Given the description of an element on the screen output the (x, y) to click on. 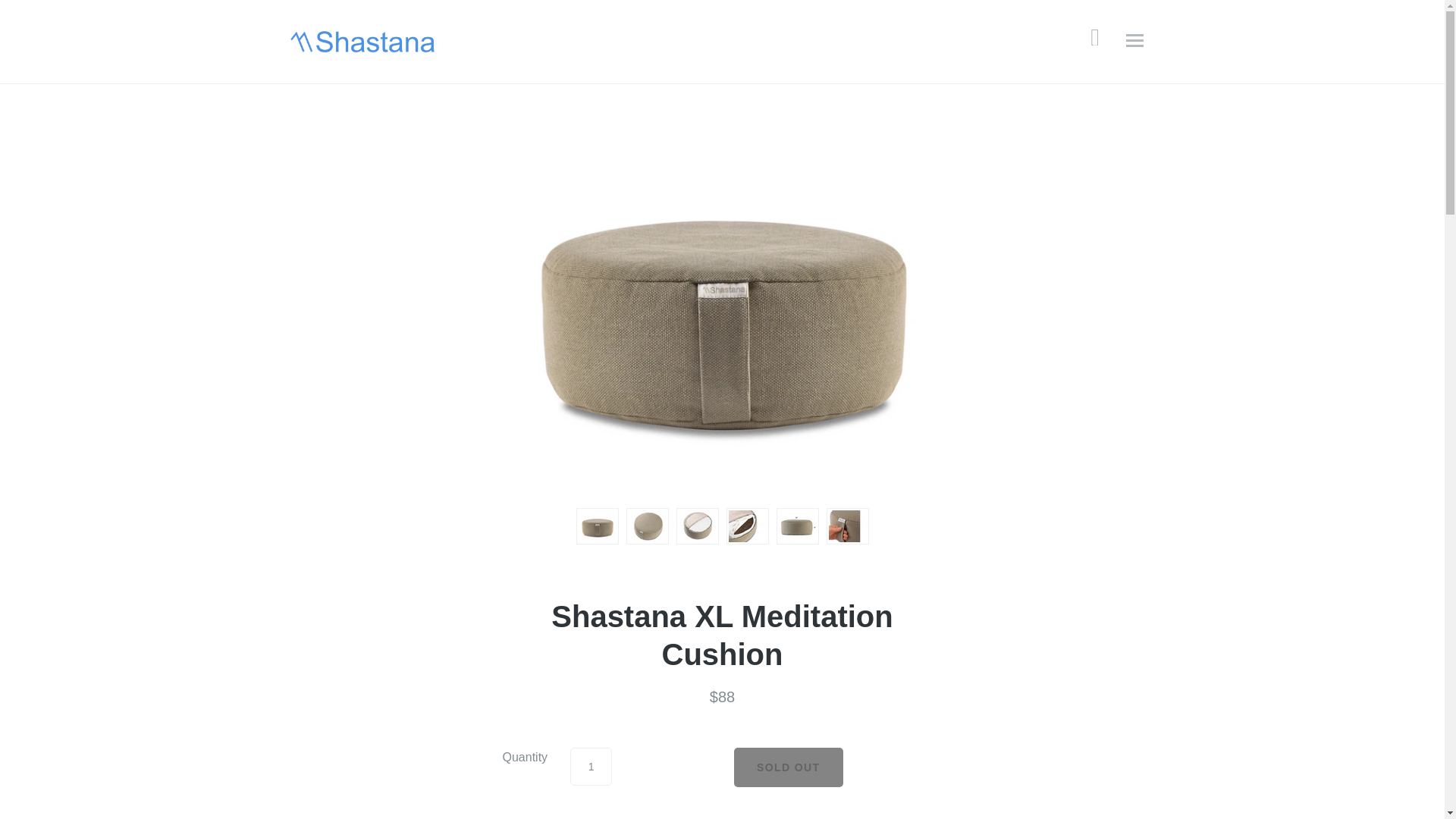
1 (590, 766)
Sold out (788, 767)
